Given the description of an element on the screen output the (x, y) to click on. 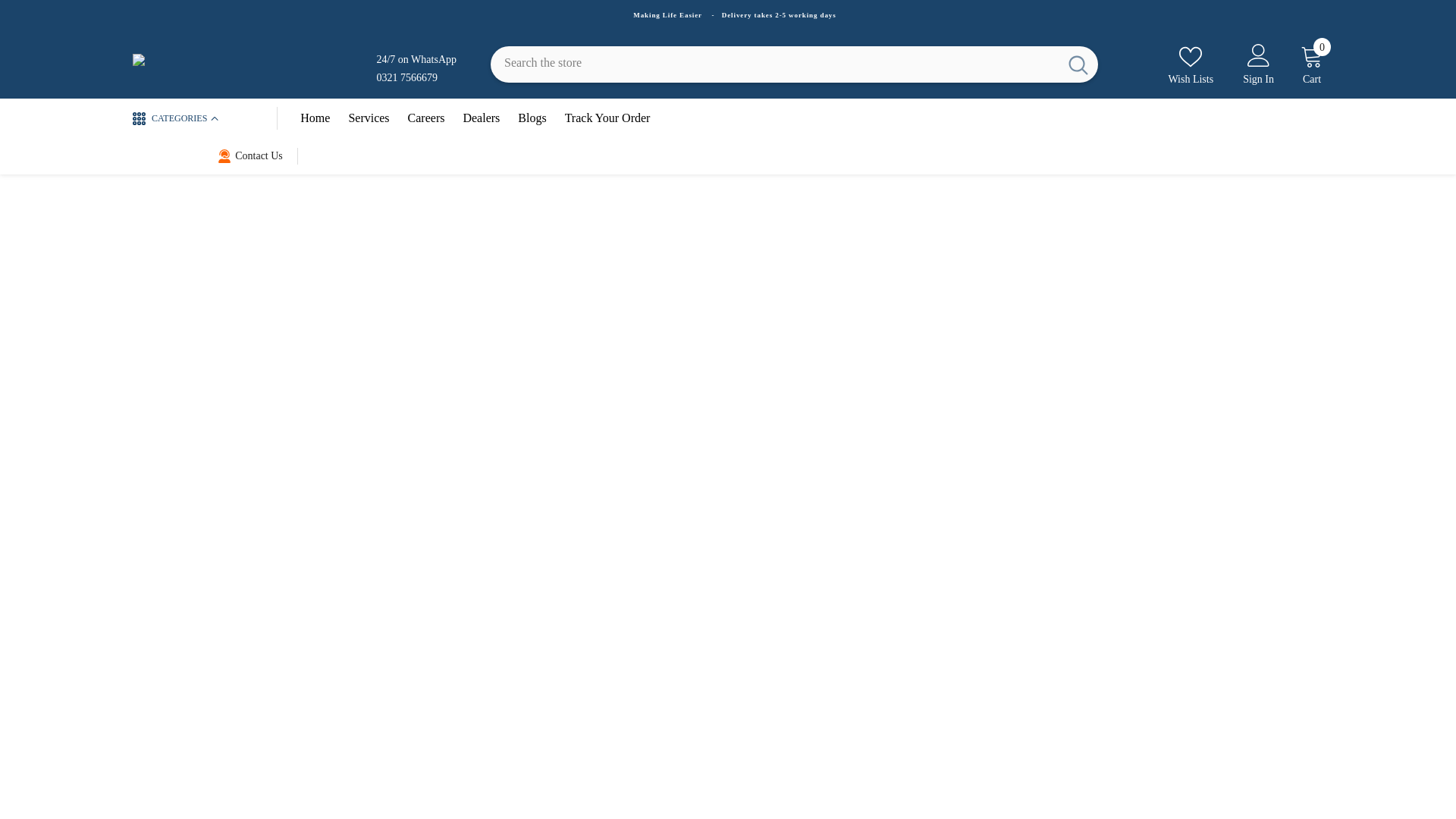
Making Life Easier    -   Delivery takes 2-5 working days (734, 15)
